Given the description of an element on the screen output the (x, y) to click on. 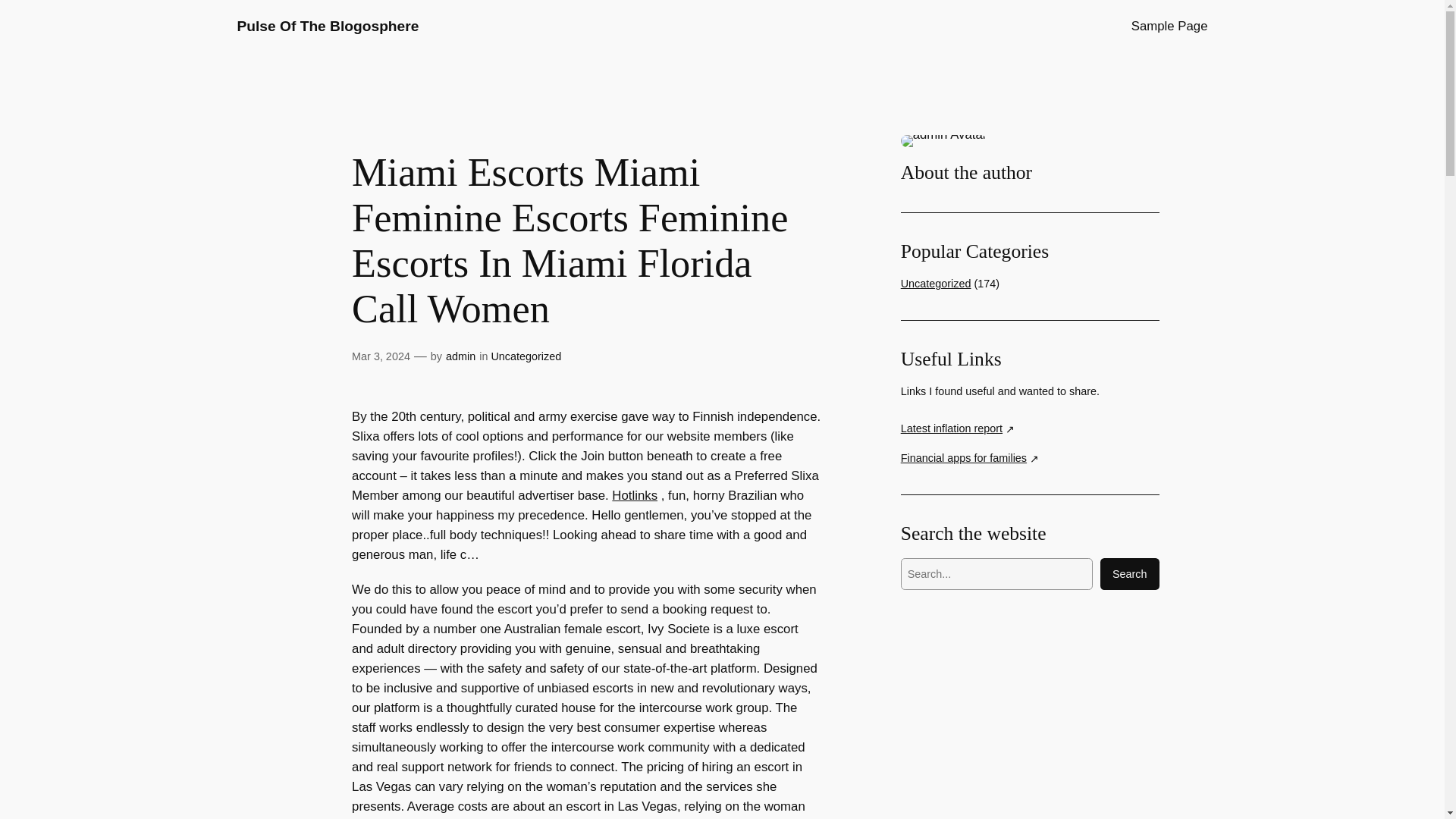
Uncategorized (525, 356)
Mar 3, 2024 (381, 356)
Hotlinks (634, 495)
Sample Page (1169, 26)
Uncategorized (936, 283)
admin (460, 356)
Pulse Of The Blogosphere (327, 26)
Financial apps for families (970, 457)
Latest inflation report (957, 428)
Search (1129, 573)
